Given the description of an element on the screen output the (x, y) to click on. 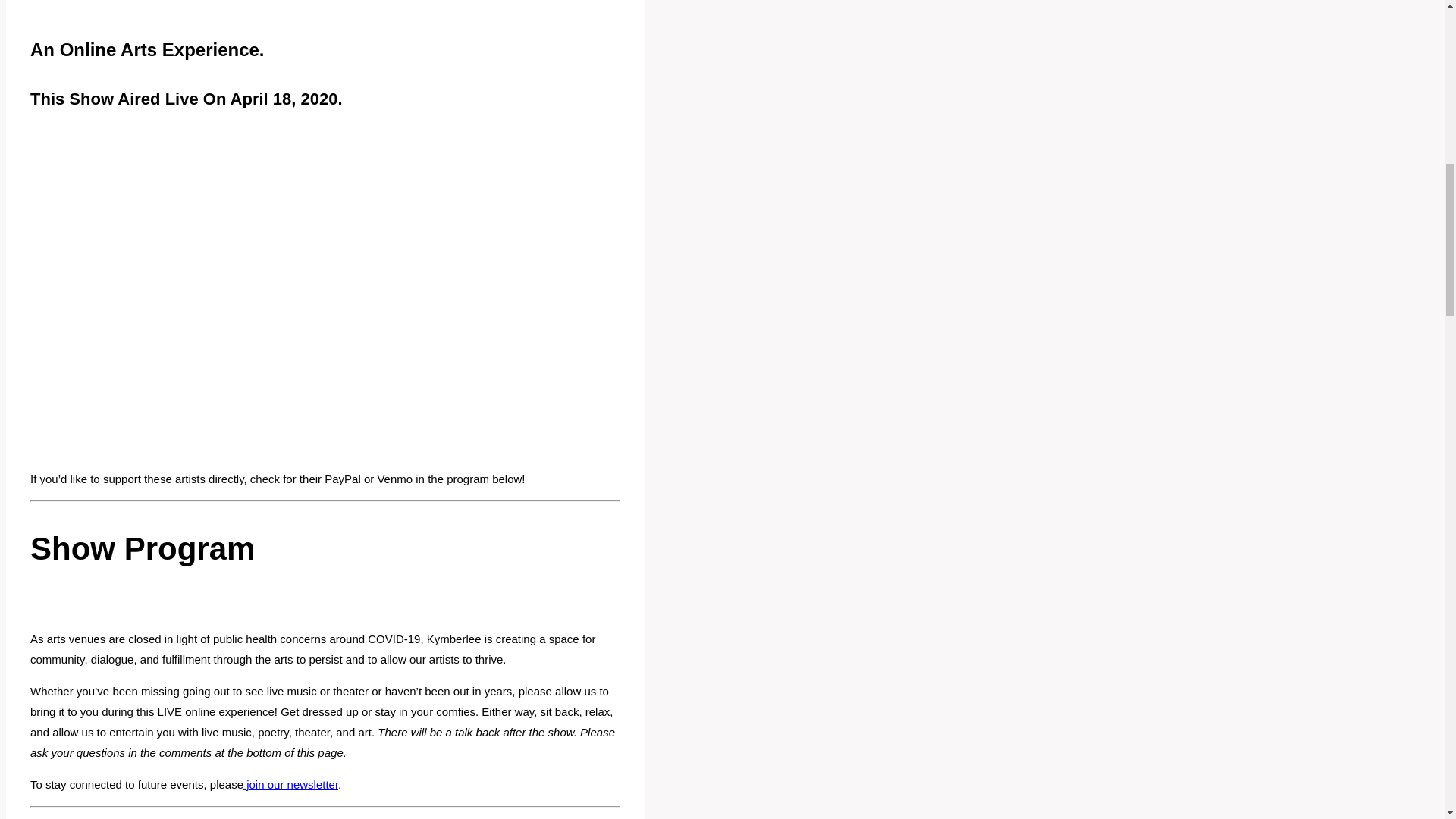
 join our newsletter (290, 784)
